Given the description of an element on the screen output the (x, y) to click on. 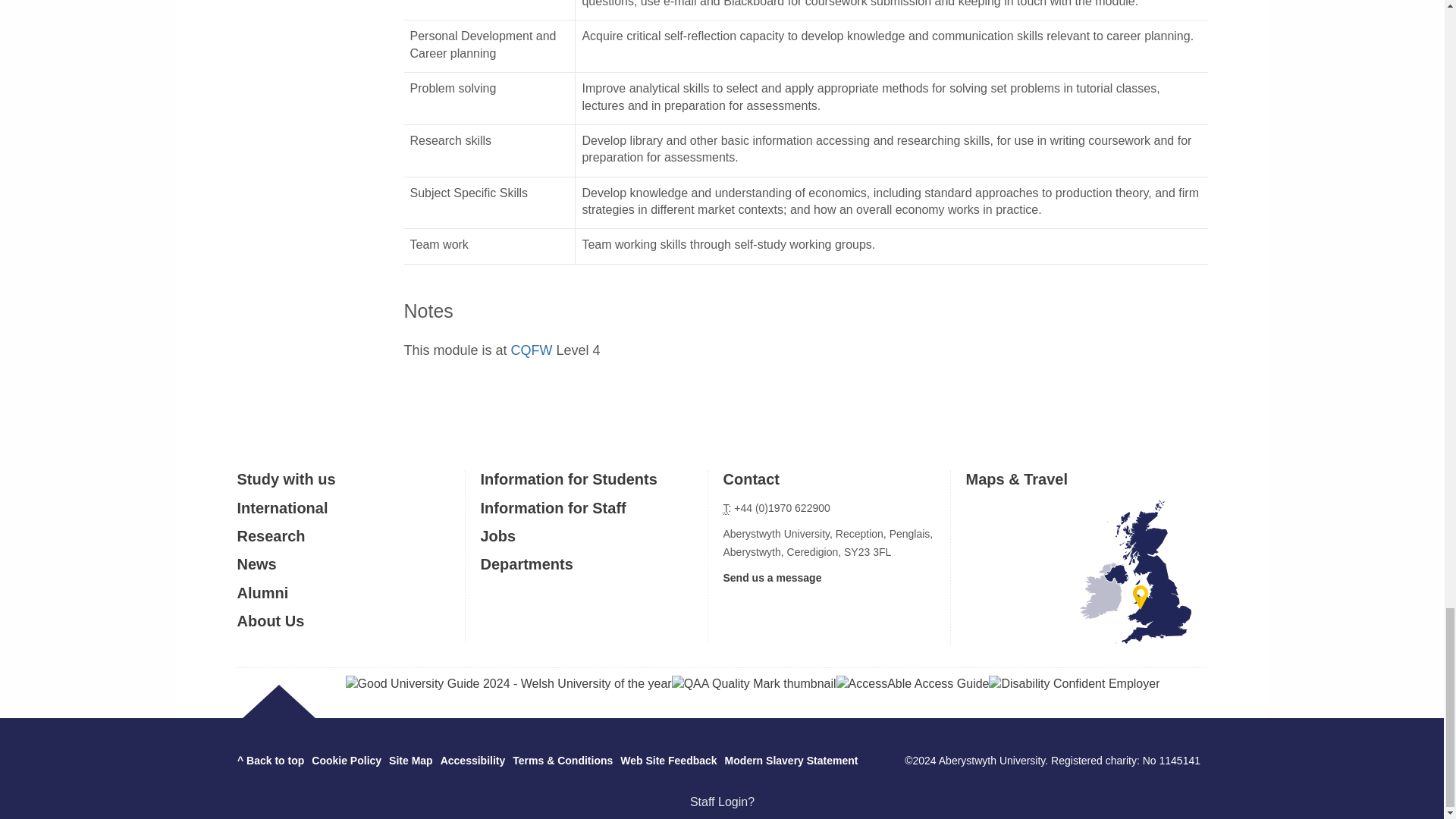
Accessibility information (473, 760)
Send us feedback on this web site. (668, 760)
A text map of this web site. (410, 760)
Telephone (726, 508)
Modern Slavery Statement (792, 760)
Cookie Policy (346, 760)
